Given the description of an element on the screen output the (x, y) to click on. 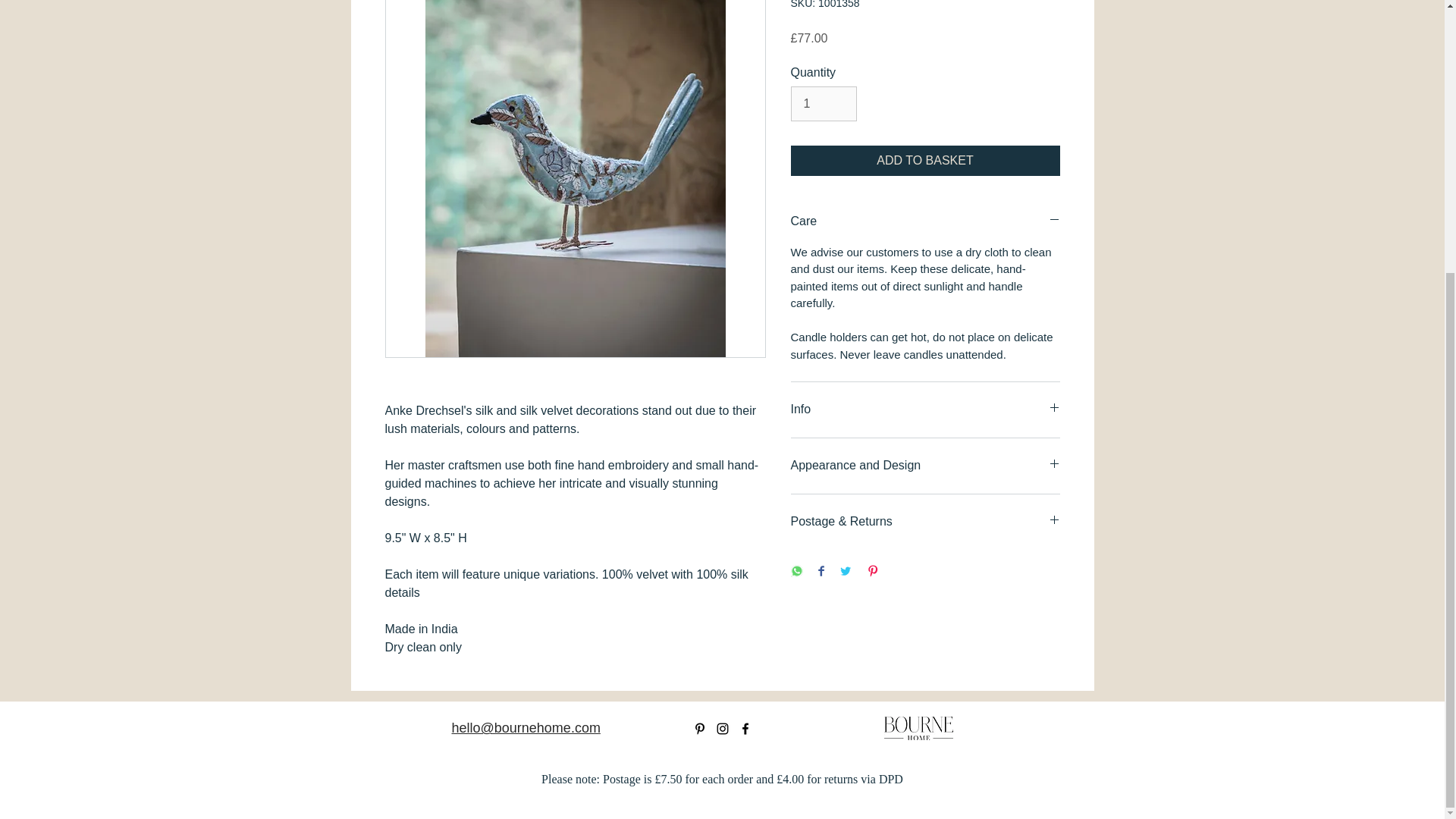
1 (823, 103)
ADD TO BASKET (924, 160)
Appearance and Design (924, 465)
Care (924, 221)
Info (924, 409)
